Given the description of an element on the screen output the (x, y) to click on. 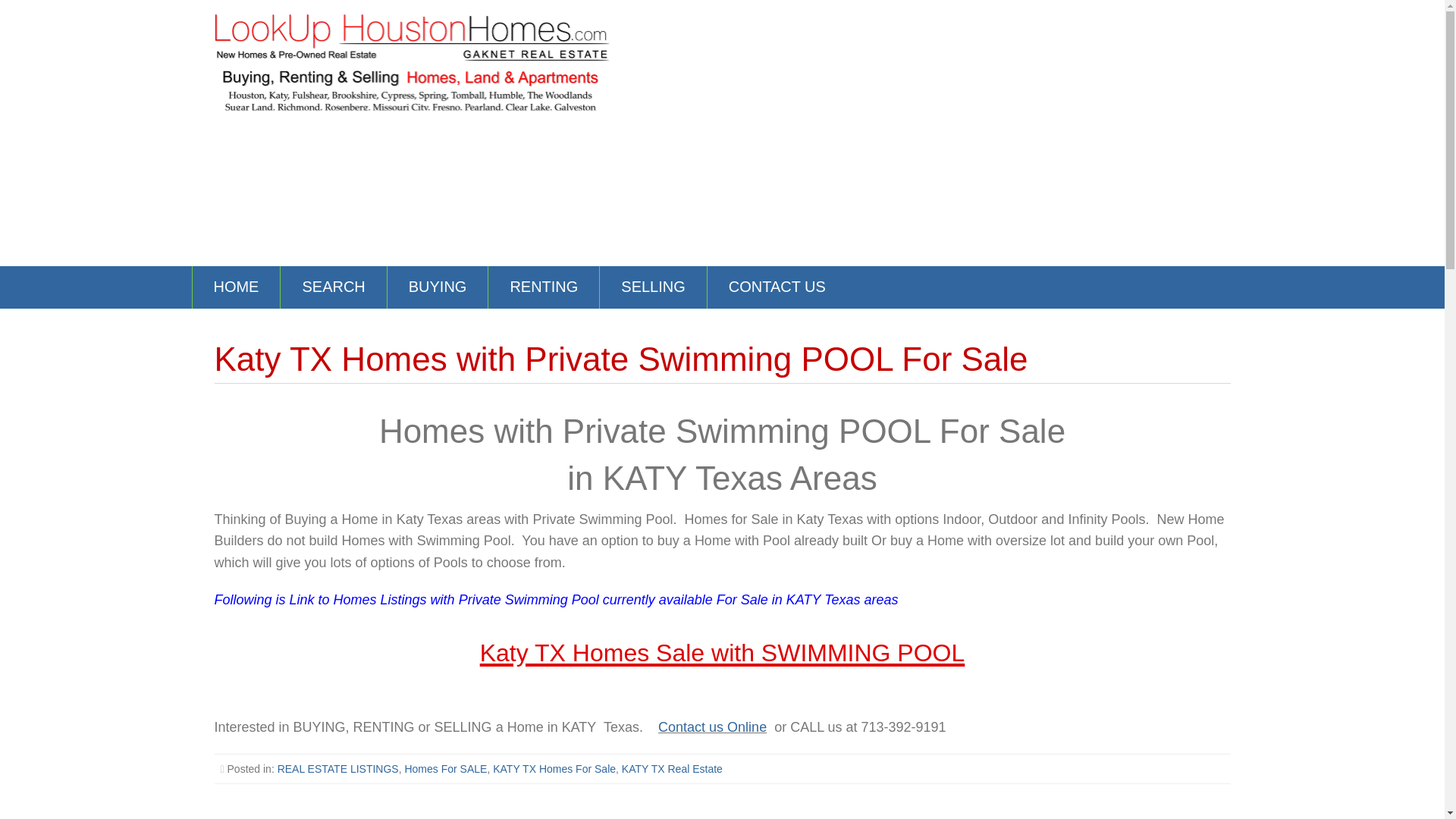
Homes For RENT in Houston Texas Areas Communities (542, 287)
REAL ESTATE LISTINGS (338, 768)
LookUp Houston Homes (412, 60)
Homes For SALE (445, 768)
SELLING (652, 287)
BUYING (437, 287)
KATY TX Real Estate (671, 768)
SEARCH (333, 287)
CONTACT US (777, 287)
Buying Homes (437, 287)
Contact us Online (712, 726)
HOME (236, 287)
KATY TX Homes For Sale (554, 768)
SELLING (652, 287)
RENTING (542, 287)
